Given the description of an element on the screen output the (x, y) to click on. 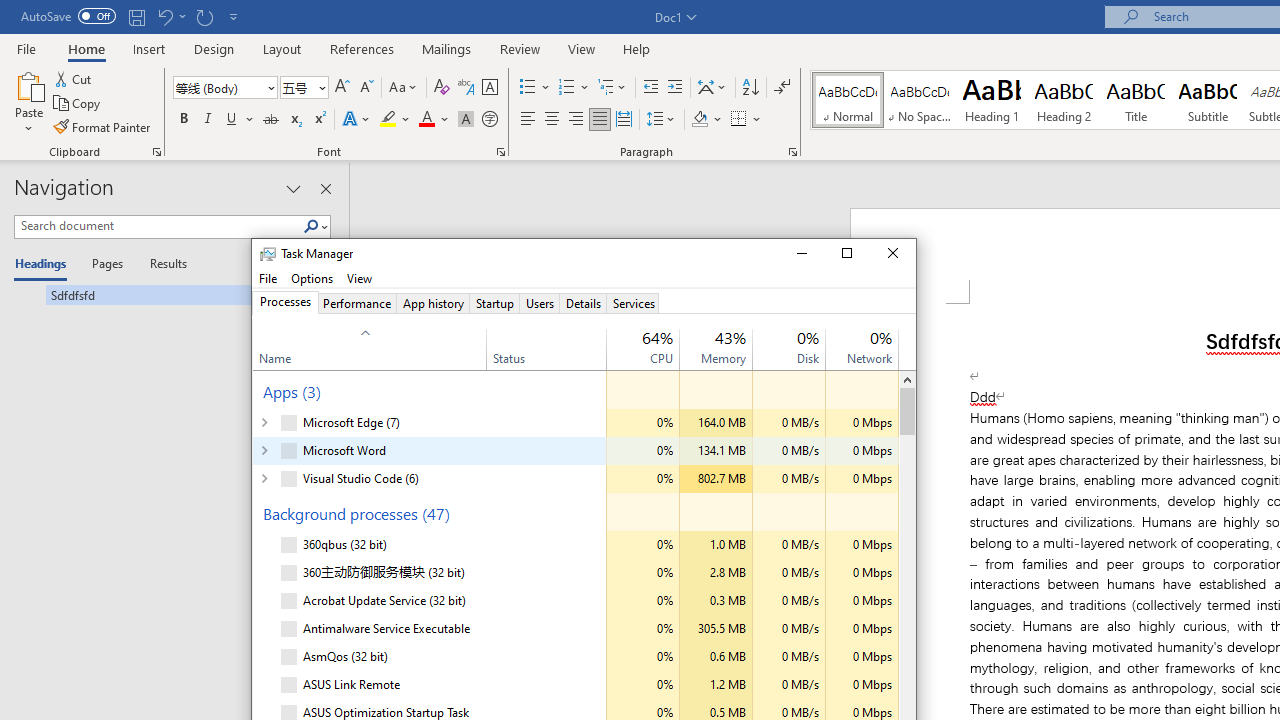
App history (432, 303)
Application (584, 278)
Title (1135, 100)
64% (657, 336)
0% (880, 336)
